Given the description of an element on the screen output the (x, y) to click on. 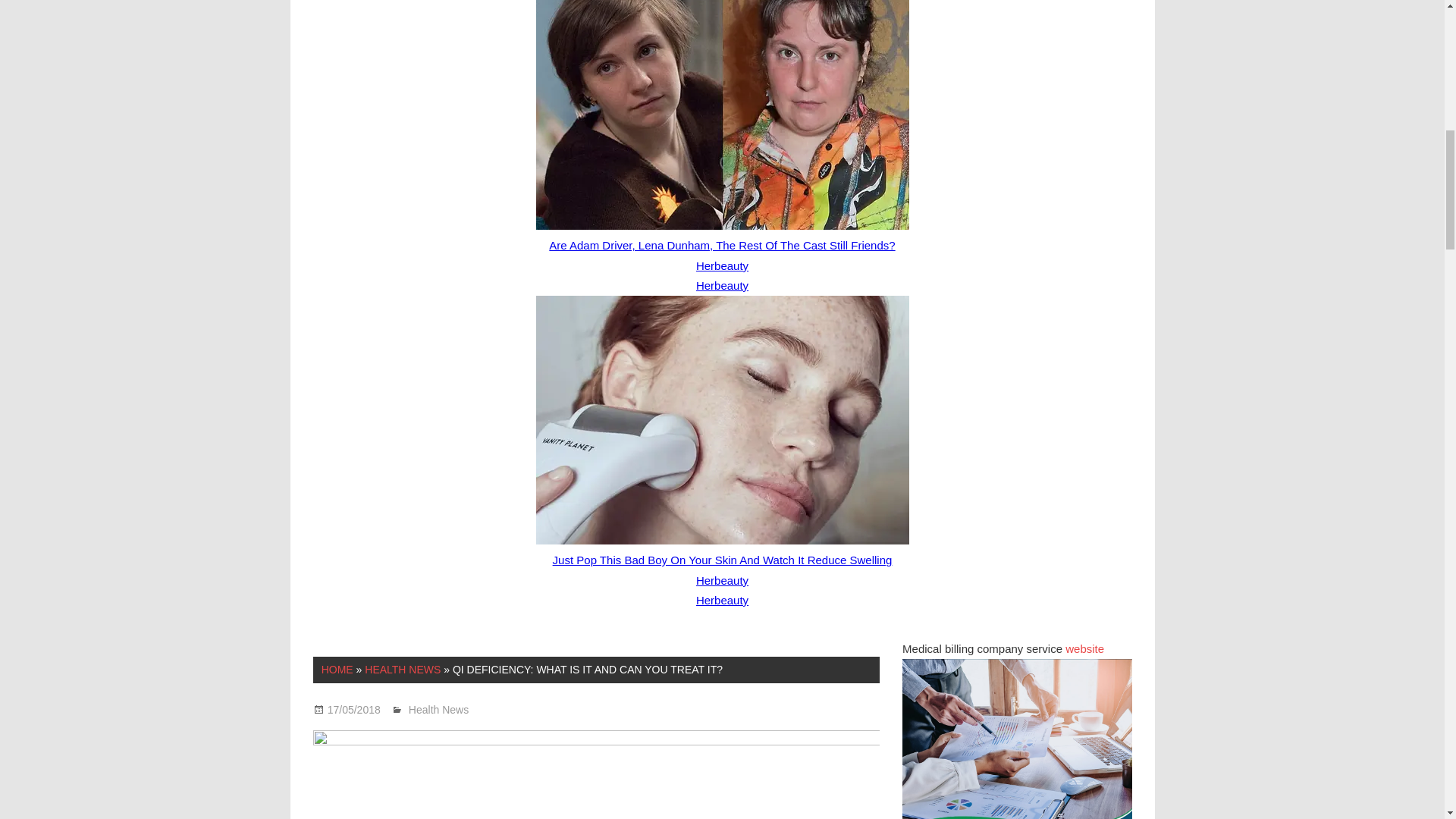
Health News (438, 709)
22:10 (353, 709)
website (1084, 648)
HEALTH NEWS (403, 669)
HOME (337, 669)
